Given the description of an element on the screen output the (x, y) to click on. 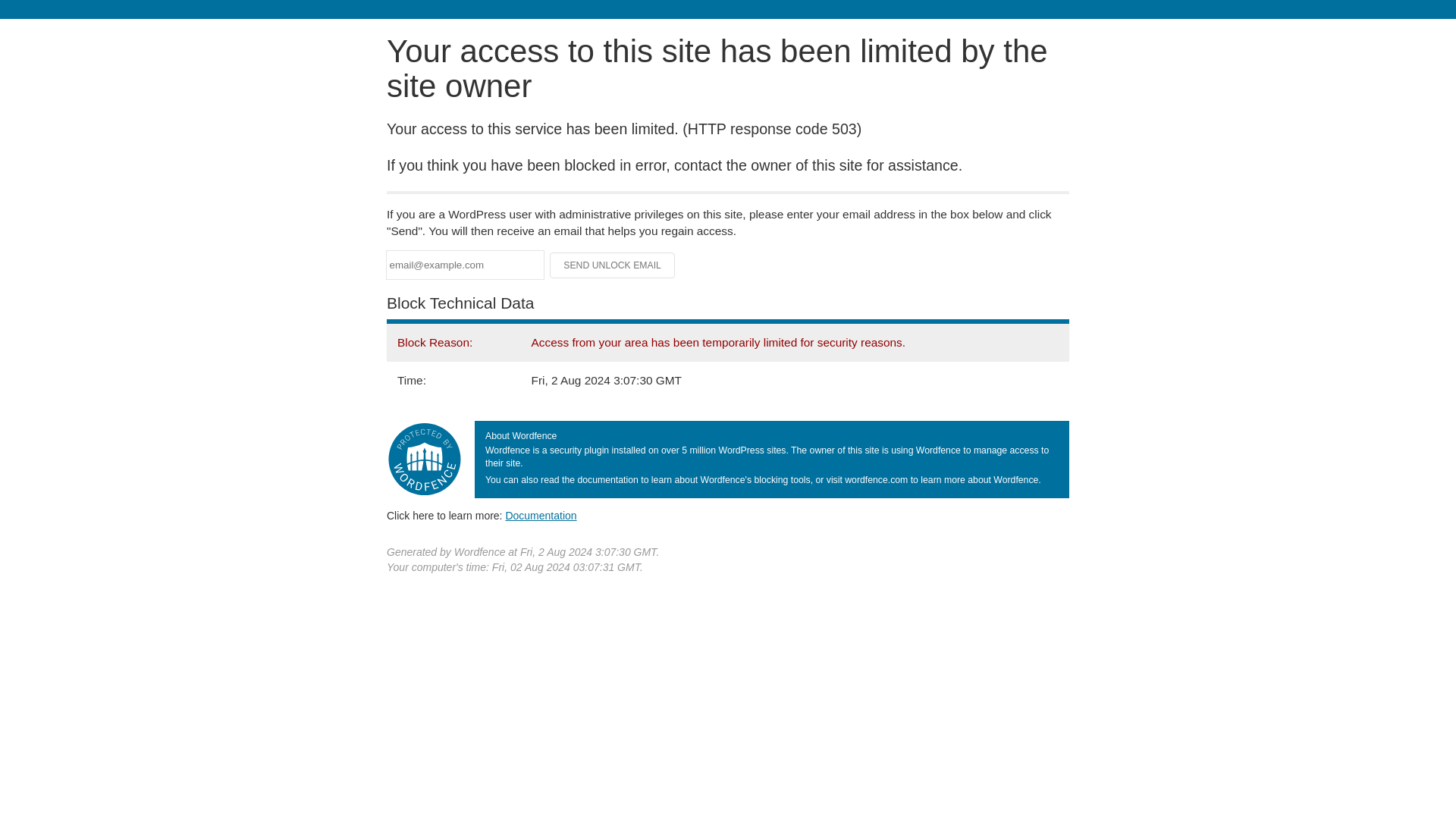
Send Unlock Email (612, 265)
Send Unlock Email (612, 265)
Documentation (540, 515)
